Given the description of an element on the screen output the (x, y) to click on. 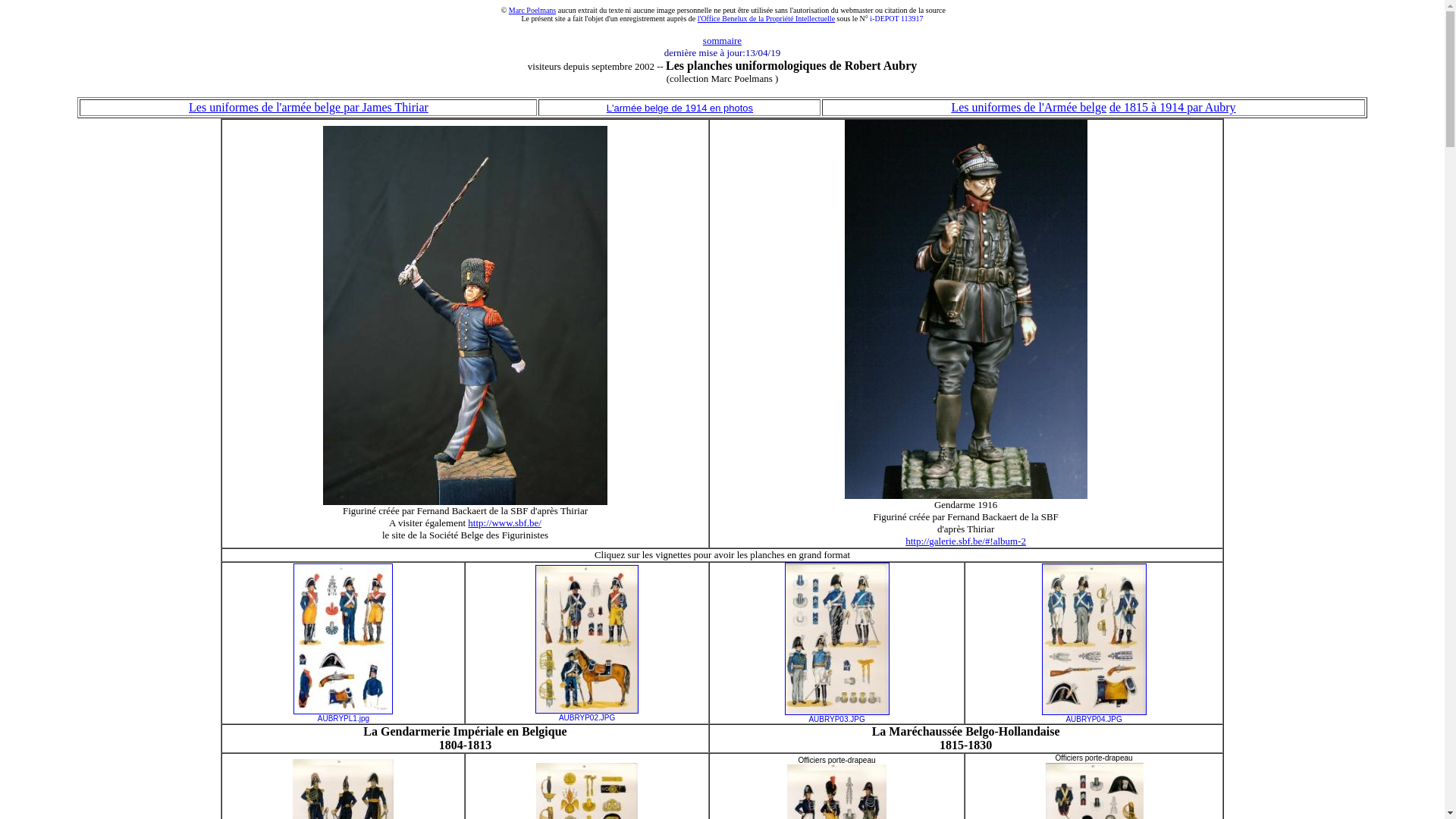
sommaire Element type: text (721, 39)
AUBRYP03.JPG Element type: text (836, 717)
http://galerie.sbf.be/#!album-2 Element type: text (965, 540)
AUBRYP02.JPG Element type: text (586, 715)
Marc Poelmans Element type: text (532, 10)
AUBRYPL1.jpg Element type: text (343, 716)
AUBRYP04.JPG Element type: text (1093, 717)
http://www.sbf.be/ Element type: text (504, 522)
